Given the description of an element on the screen output the (x, y) to click on. 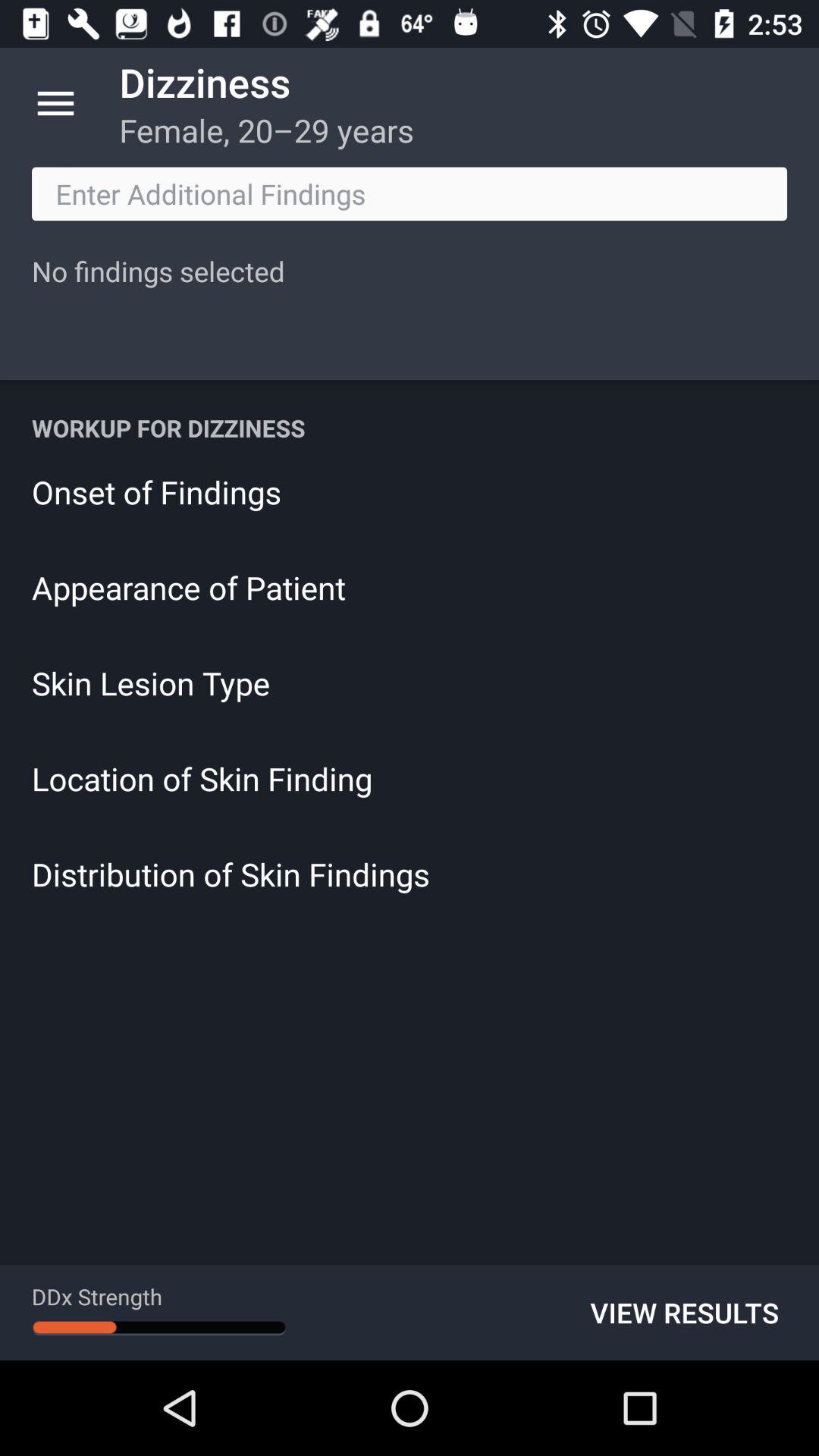
flip until the skin lesion type (409, 682)
